Given the description of an element on the screen output the (x, y) to click on. 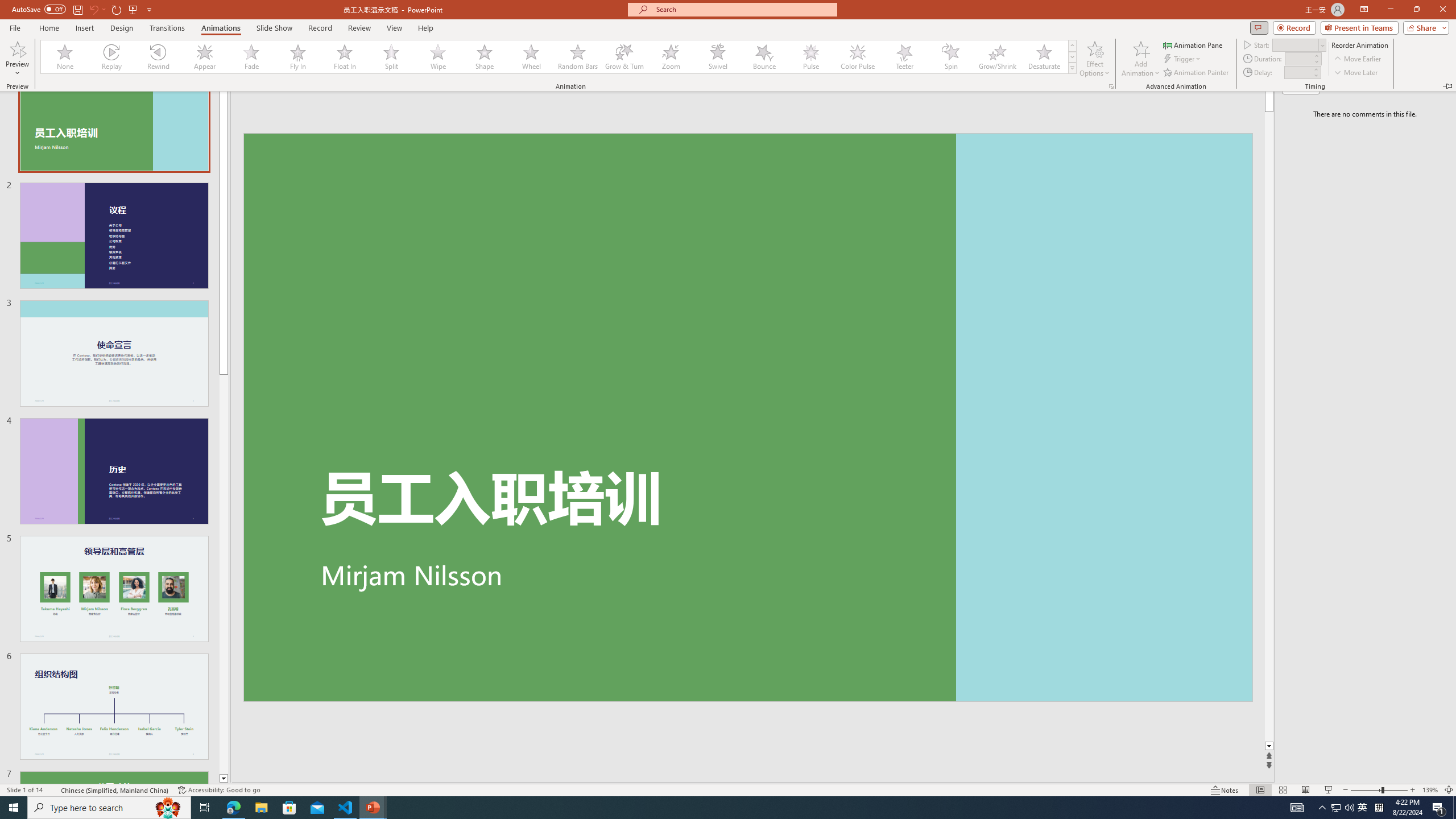
Q2790: 100% (1349, 807)
Spell Check  (52, 790)
